Given the description of an element on the screen output the (x, y) to click on. 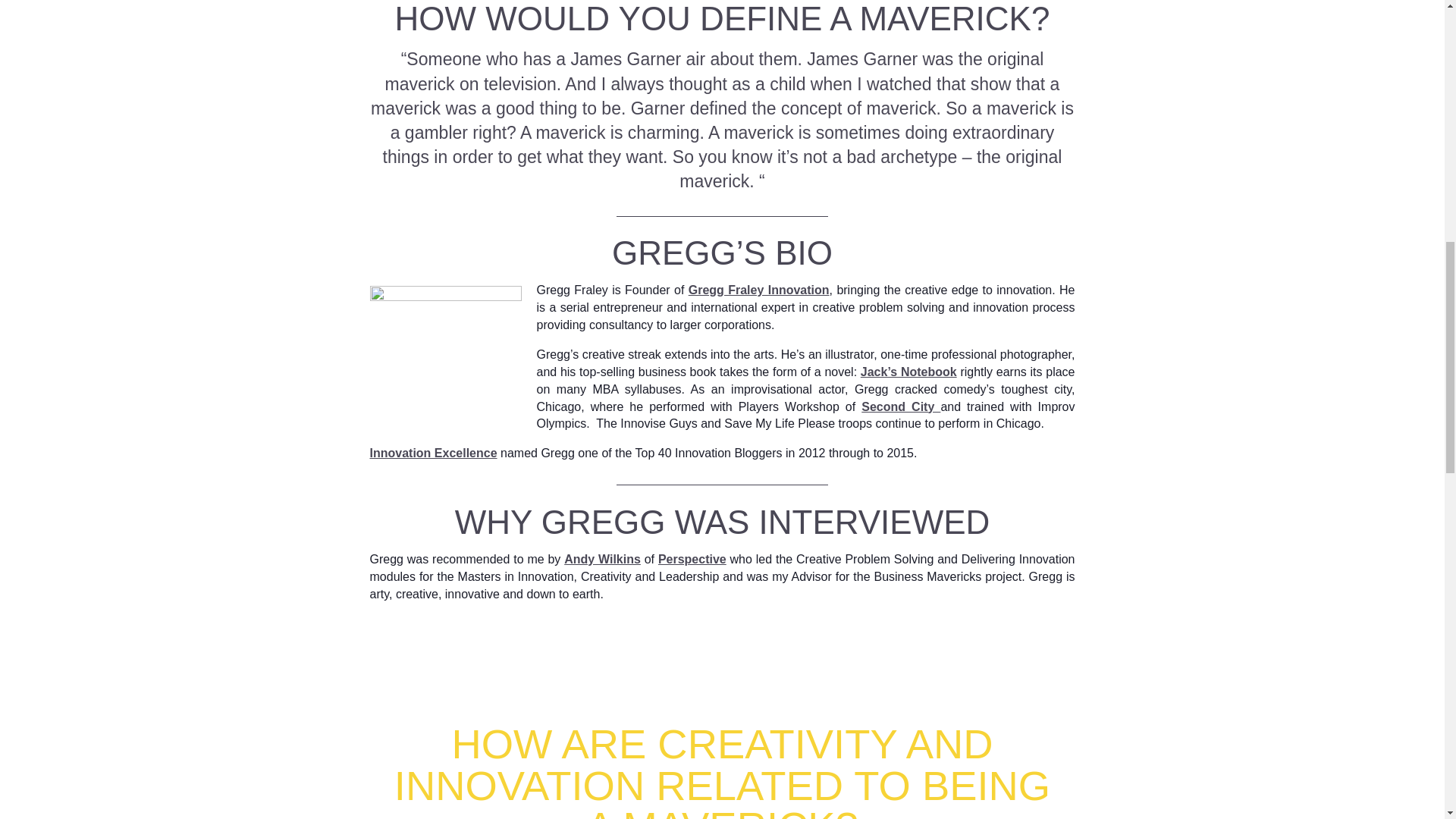
Andy Wilkins (602, 558)
Second City (900, 406)
Perspective (692, 558)
Innovation Excellence (433, 452)
Gregg Fraley Innovation (758, 289)
